Given the description of an element on the screen output the (x, y) to click on. 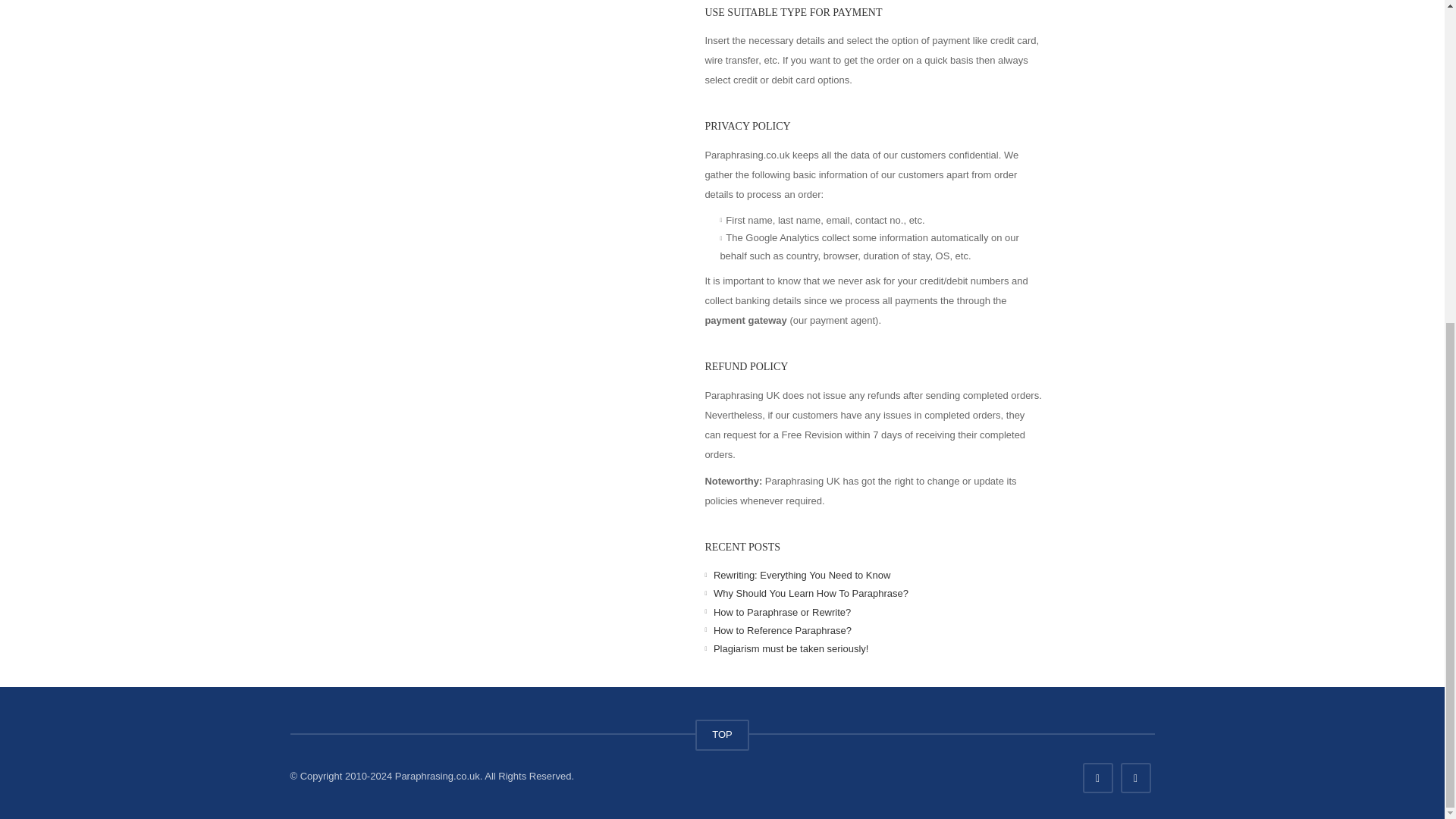
TOP (722, 735)
Plagiarism must be taken seriously! (790, 648)
Rewriting: Everything You Need to Know (801, 574)
Why Should You Learn How To Paraphrase? (810, 593)
How to Reference Paraphrase? (782, 630)
How to Paraphrase or Rewrite? (781, 611)
